Given the description of an element on the screen output the (x, y) to click on. 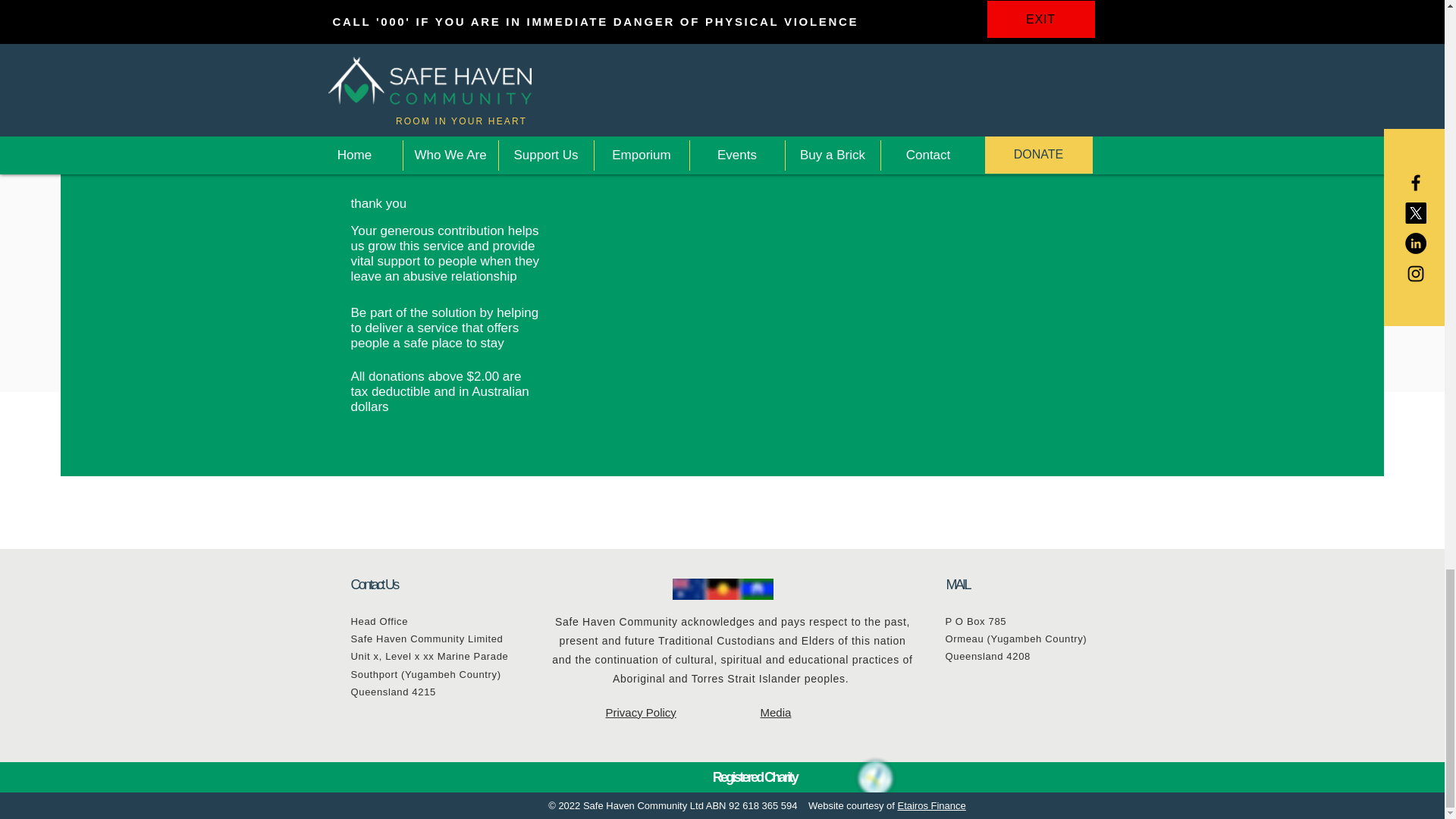
0 (804, 9)
0 (694, 9)
